Given the description of an element on the screen output the (x, y) to click on. 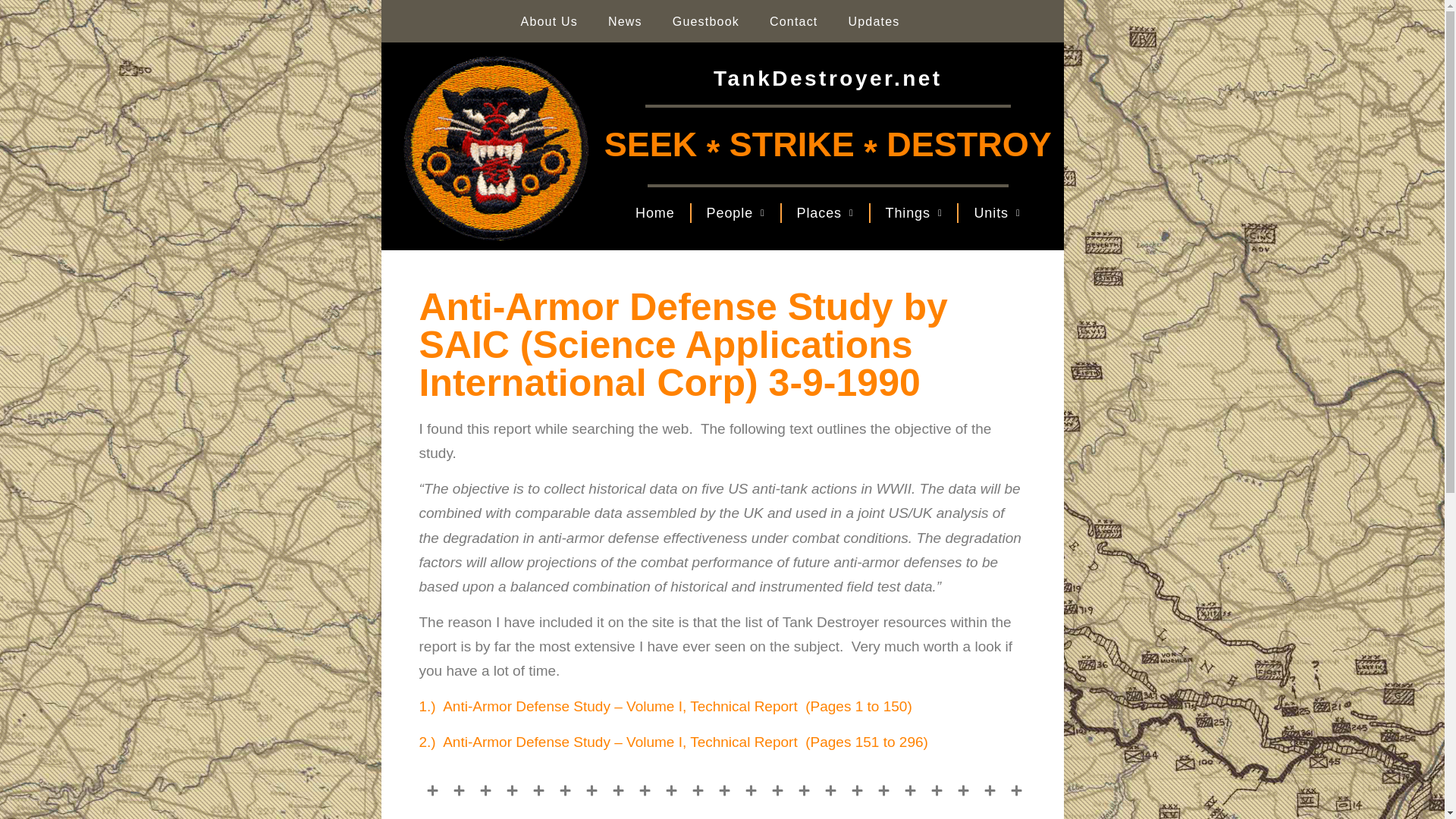
Places (825, 213)
Contact (793, 21)
Guestbook (706, 21)
Updates (873, 21)
News (625, 21)
About Us (548, 21)
People (735, 213)
Home (655, 213)
Things (914, 213)
